Given the description of an element on the screen output the (x, y) to click on. 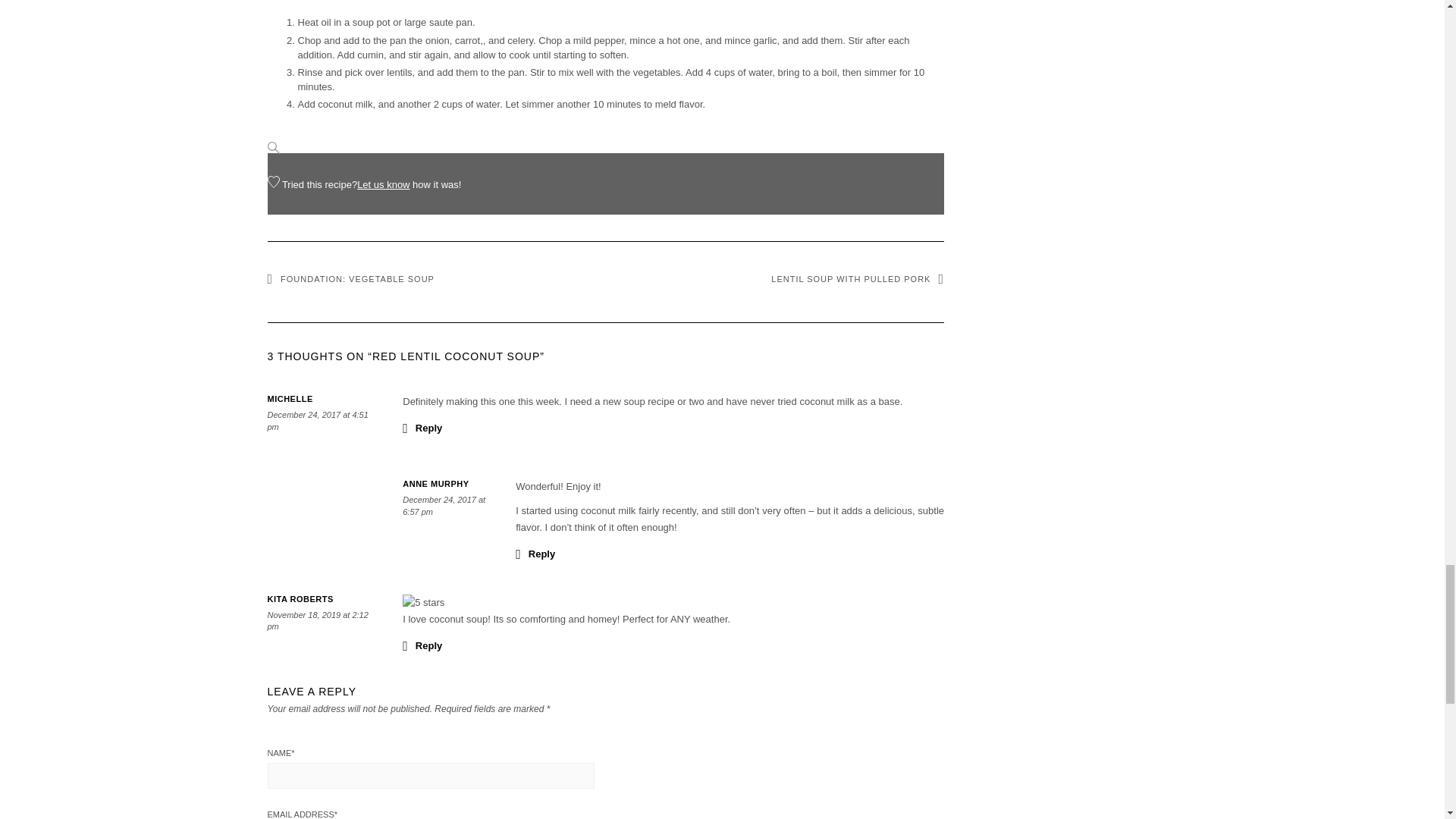
LENTIL SOUP WITH PULLED PORK (857, 278)
Let us know (382, 184)
December 24, 2017 at 6:57 pm (443, 505)
Reply (422, 645)
Reply (422, 427)
FOUNDATION: VEGETABLE SOUP (349, 278)
November 18, 2019 at 2:12 pm (317, 620)
KITA ROBERTS (299, 598)
December 24, 2017 at 4:51 pm (317, 420)
Reply (534, 553)
